Given the description of an element on the screen output the (x, y) to click on. 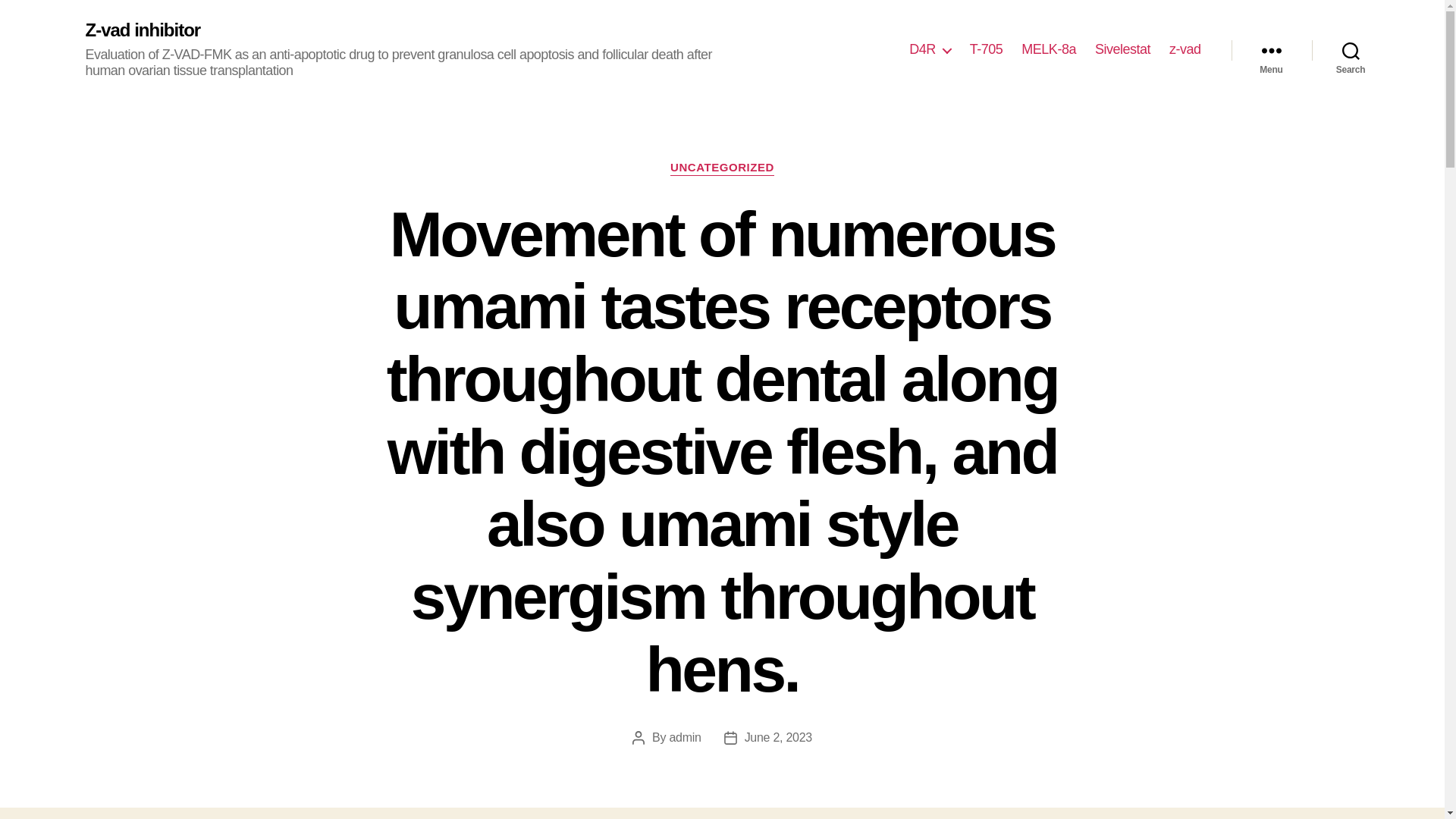
MELK-8a (1048, 49)
Menu (1271, 49)
D4R (929, 49)
T-705 (986, 49)
Z-vad inhibitor (142, 30)
z-vad (1185, 49)
Sivelestat (1122, 49)
Search (1350, 49)
